Given the description of an element on the screen output the (x, y) to click on. 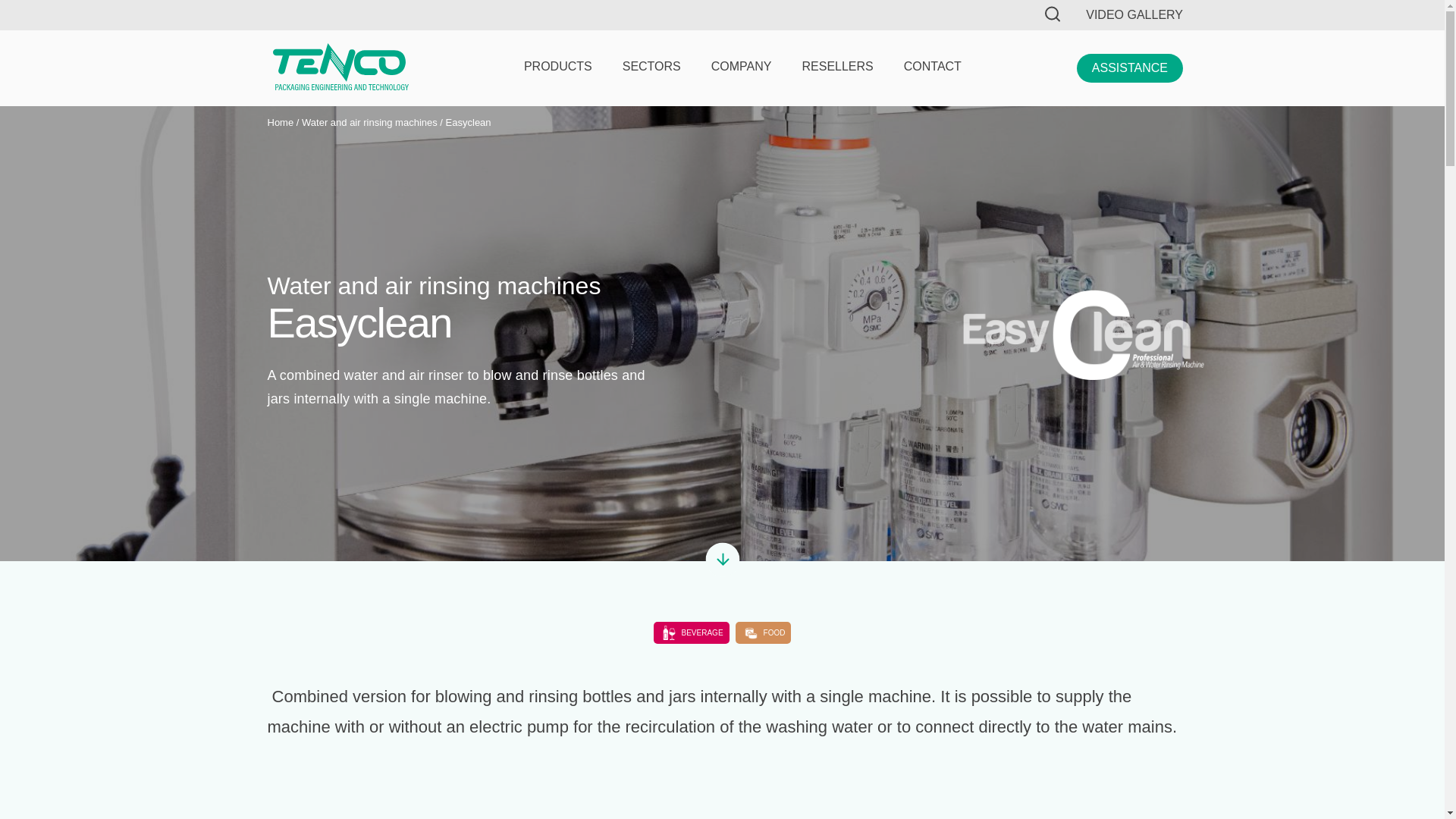
VIDEO GALLERY (1134, 15)
